Given the description of an element on the screen output the (x, y) to click on. 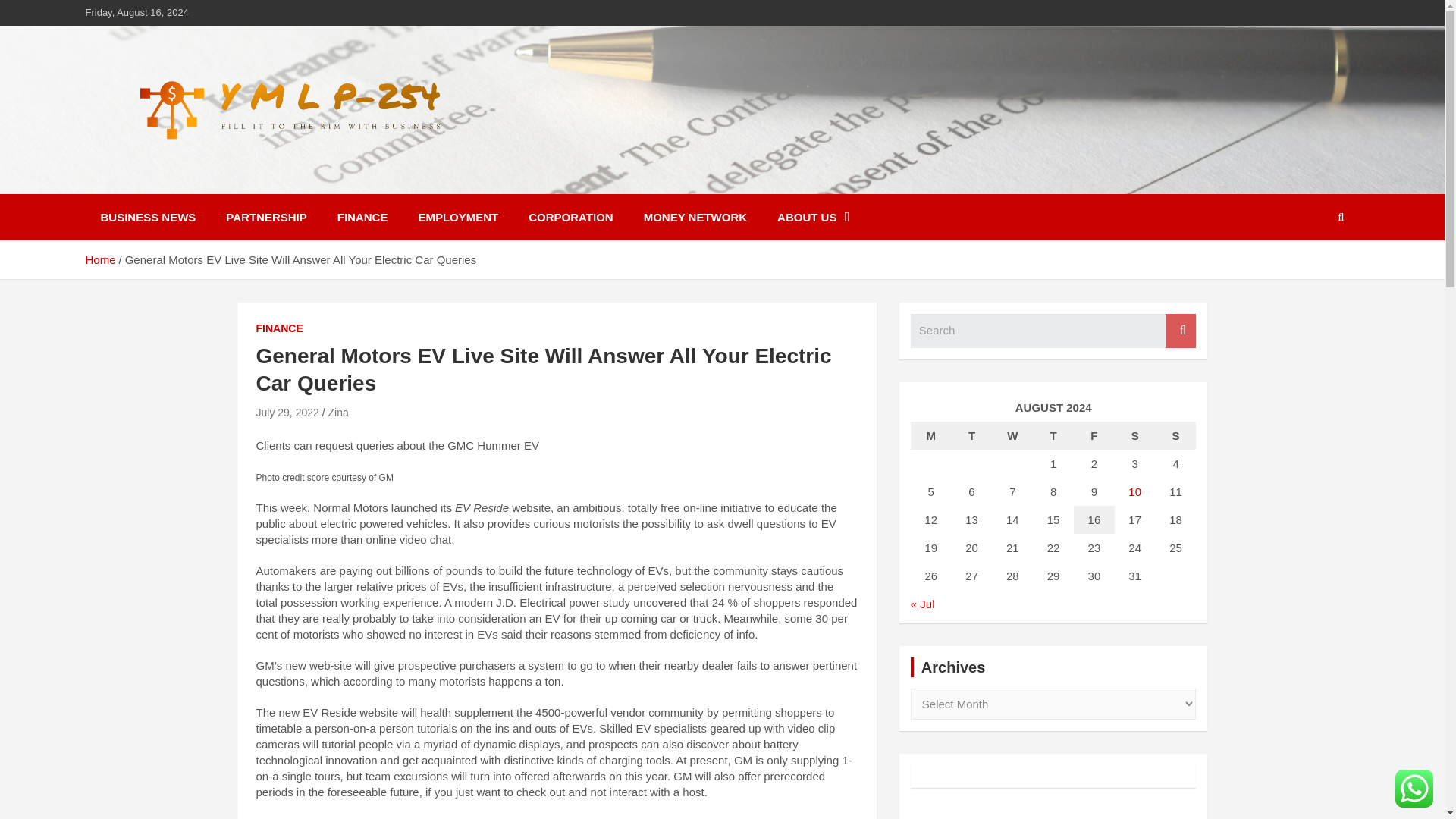
Sunday (1176, 435)
ABOUT US (812, 217)
July 29, 2022 (287, 412)
Zina (337, 412)
Monday (931, 435)
MONEY NETWORK (694, 217)
Home (99, 259)
CORPORATION (570, 217)
Friday (1094, 435)
EMPLOYMENT (458, 217)
